Given the description of an element on the screen output the (x, y) to click on. 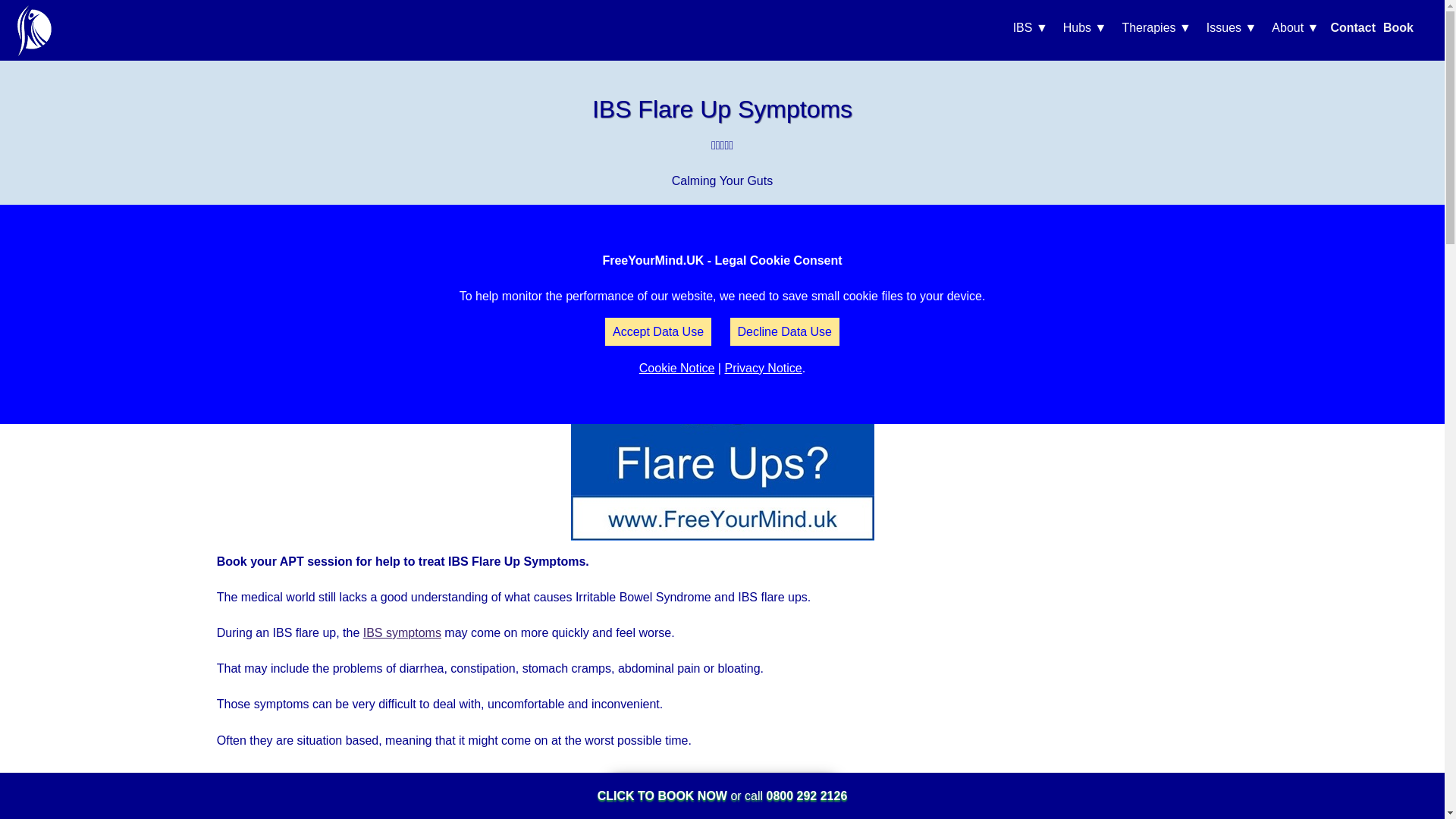
Accept Data Use (658, 331)
Decline Data Use (784, 331)
Cookie Notice (676, 367)
Privacy Notice (762, 367)
IBS Flare Up (721, 426)
